Given the description of an element on the screen output the (x, y) to click on. 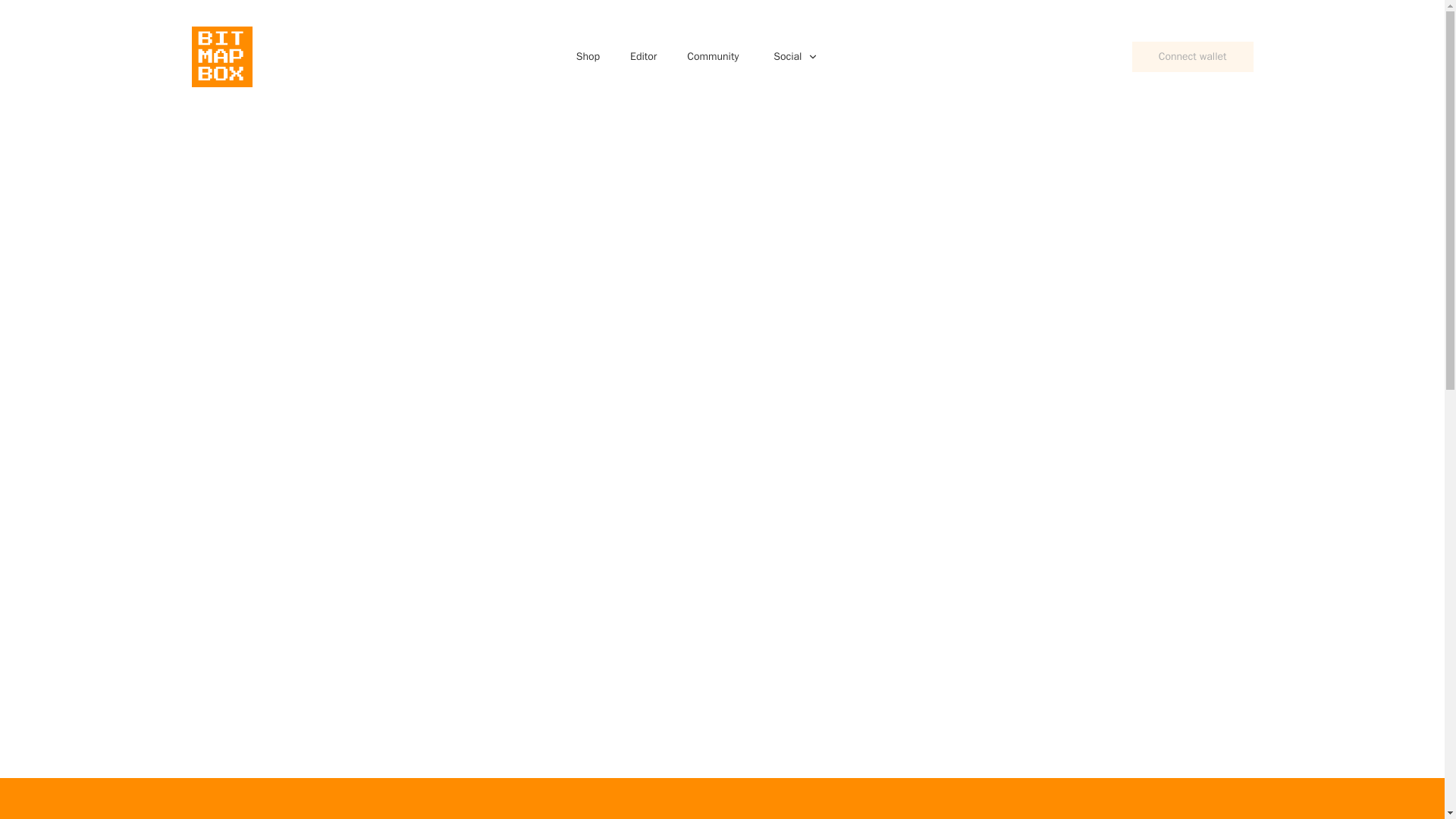
Social (788, 56)
Editor (643, 56)
Shop (587, 56)
Community (712, 56)
Connect wallet (1192, 56)
